Given the description of an element on the screen output the (x, y) to click on. 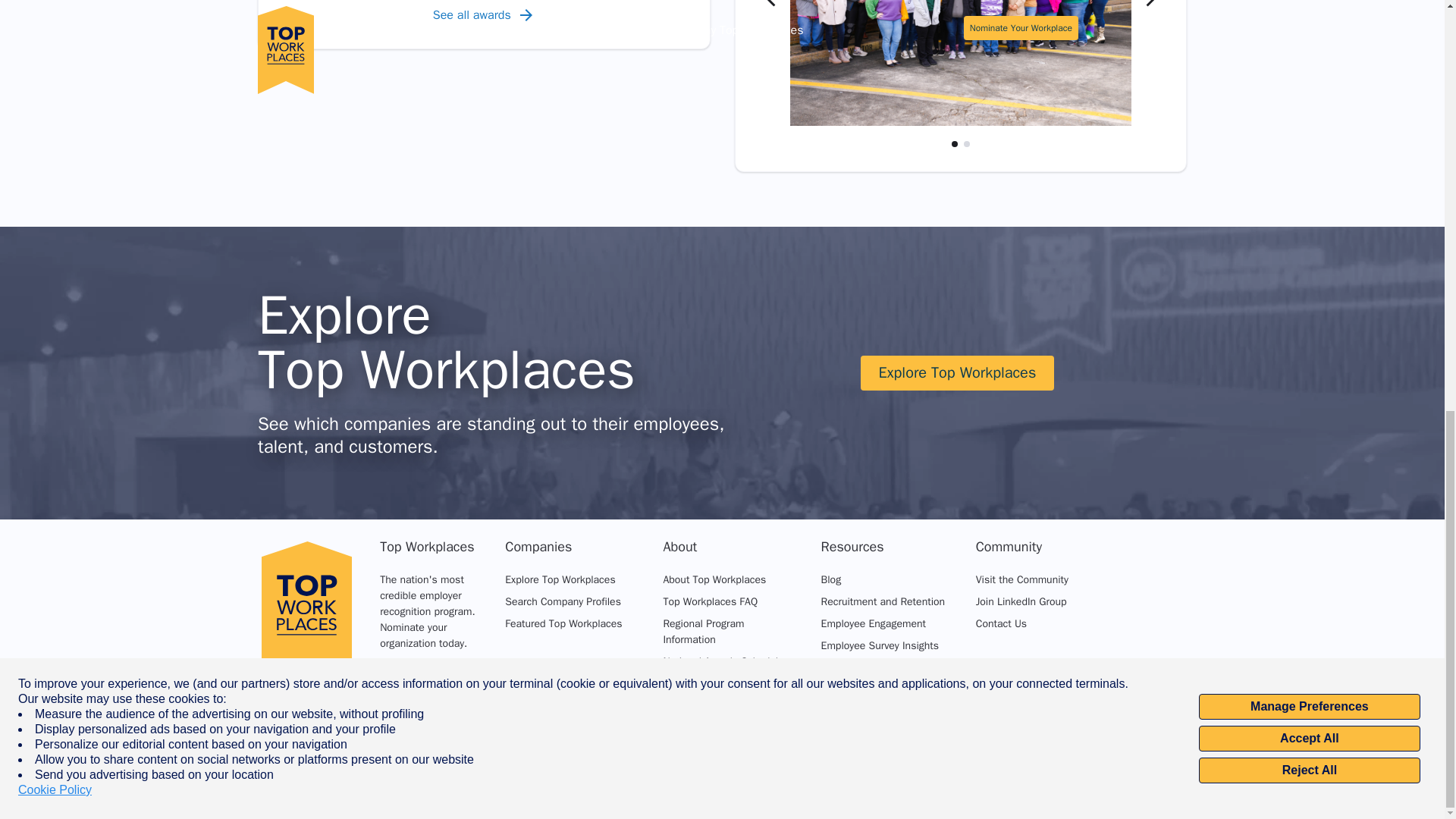
Explore Top Workplaces (957, 372)
See all awards (483, 14)
